Given the description of an element on the screen output the (x, y) to click on. 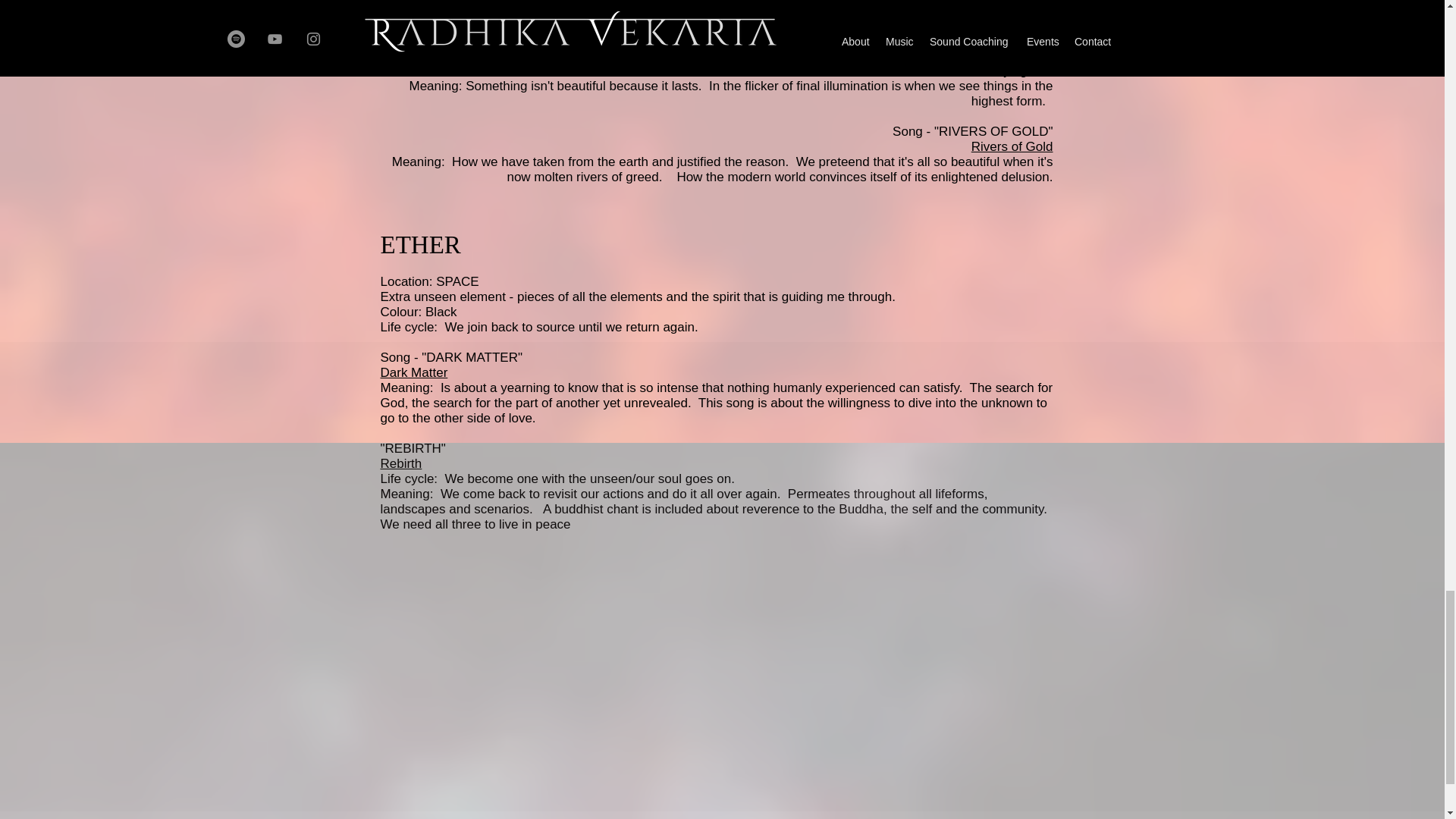
Beside the Dying Fire (991, 70)
Rebirth (401, 463)
Rivers of Gold (1011, 146)
Dark Matter (414, 372)
